Given the description of an element on the screen output the (x, y) to click on. 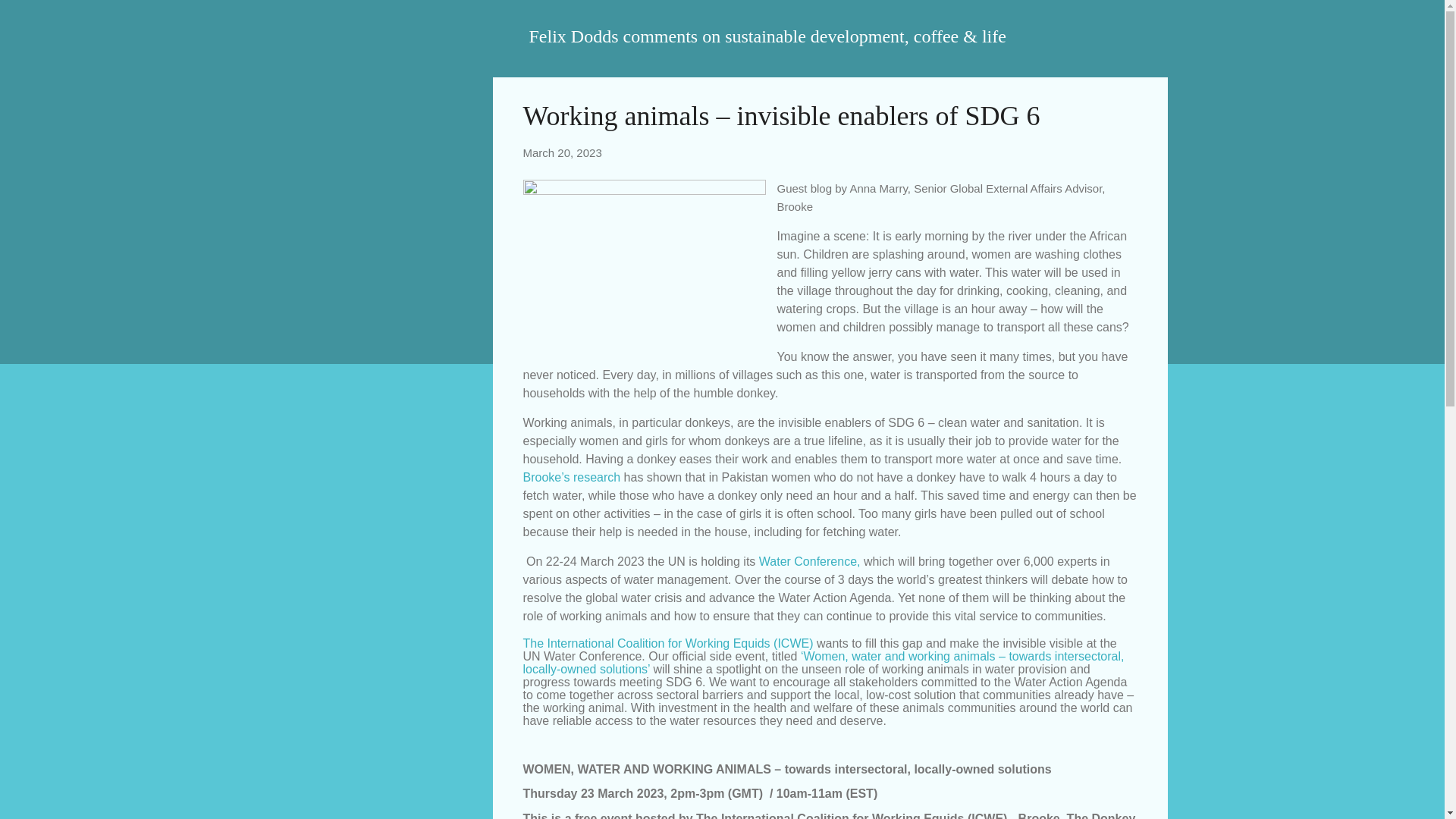
Search (29, 18)
permanent link (562, 152)
March 20, 2023 (562, 152)
Water Conference, (809, 561)
